Given the description of an element on the screen output the (x, y) to click on. 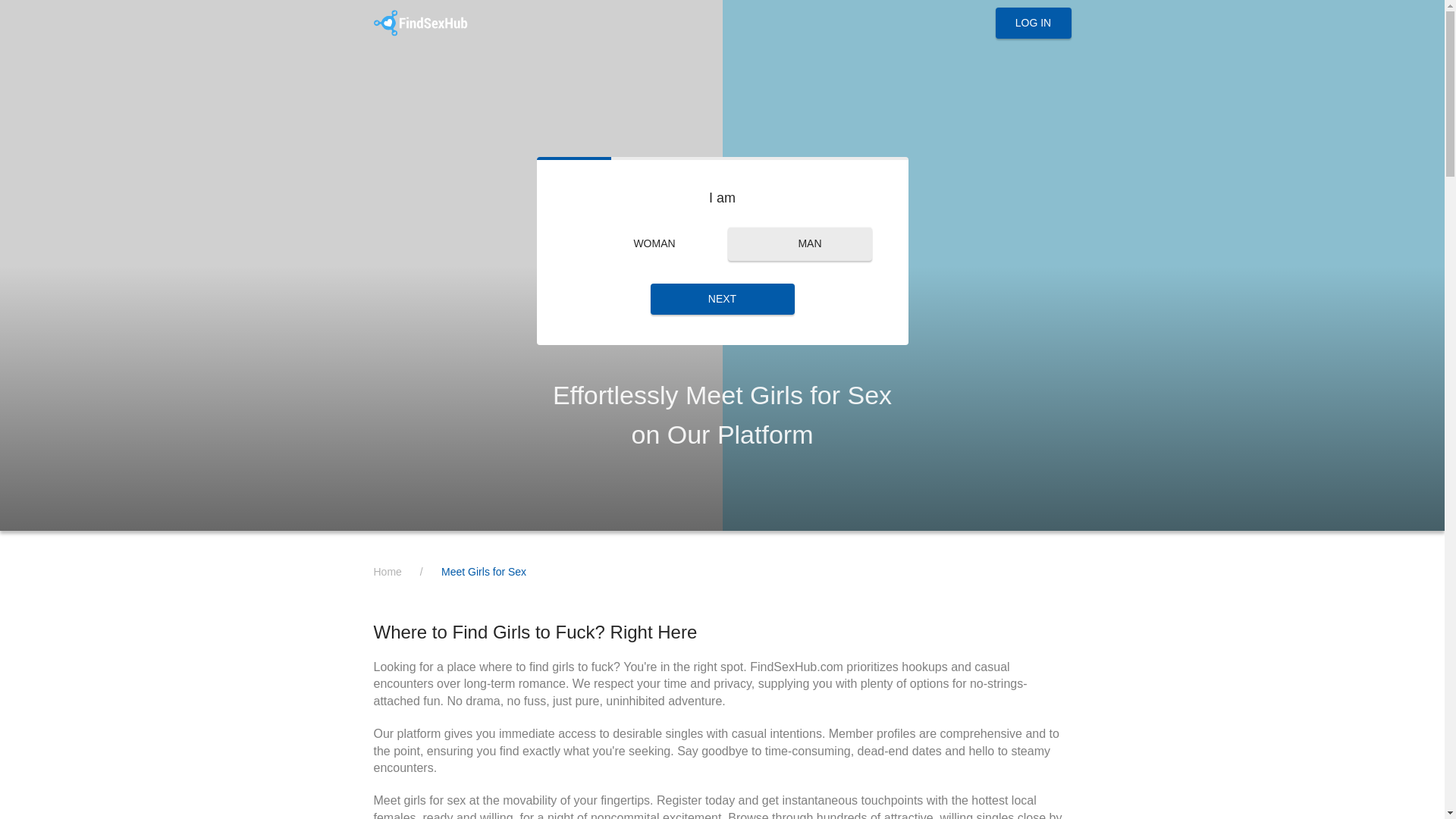
LOG IN (1032, 22)
Home (386, 572)
